Given the description of an element on the screen output the (x, y) to click on. 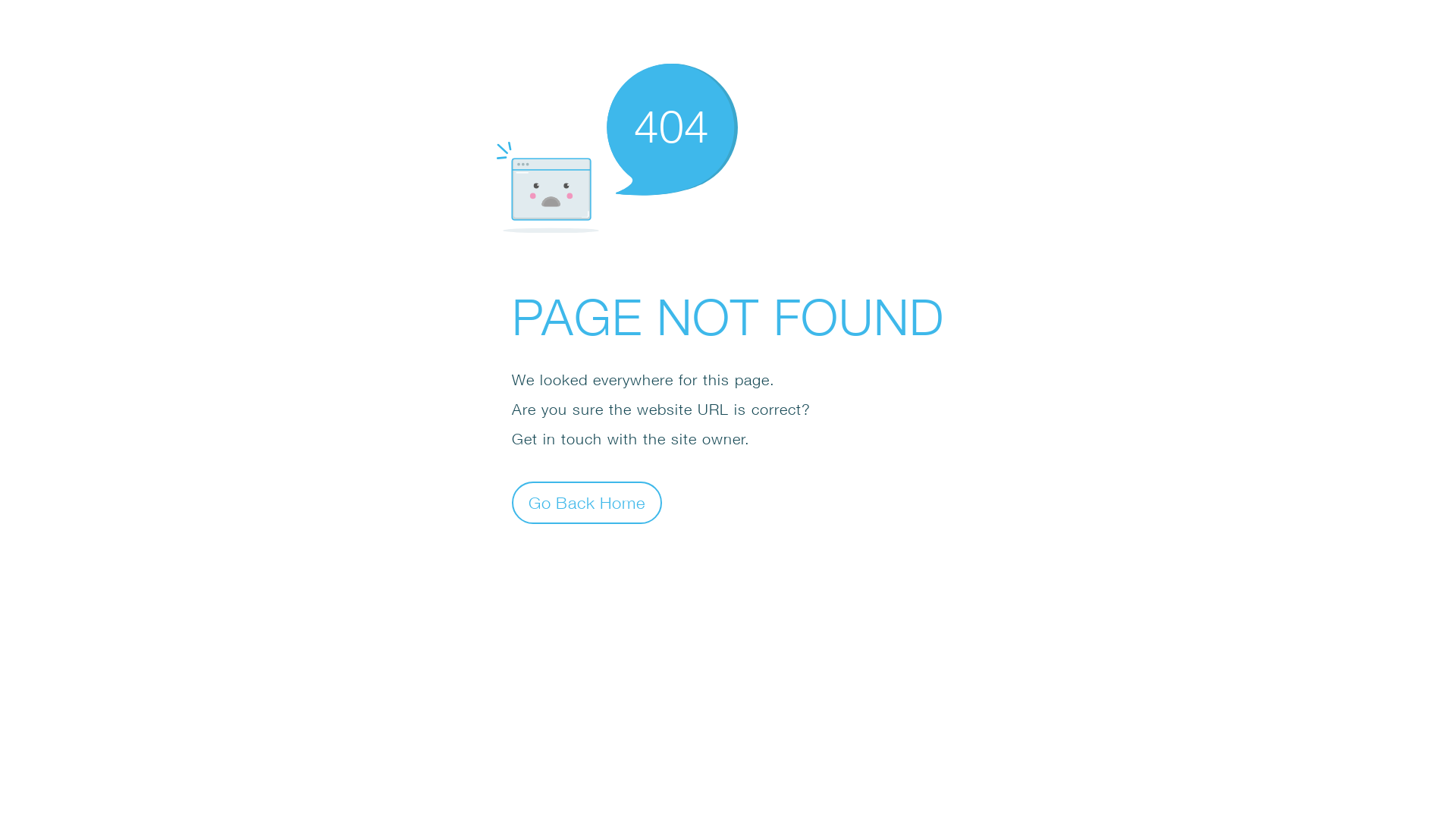
Go Back Home Element type: text (586, 502)
